Given the description of an element on the screen output the (x, y) to click on. 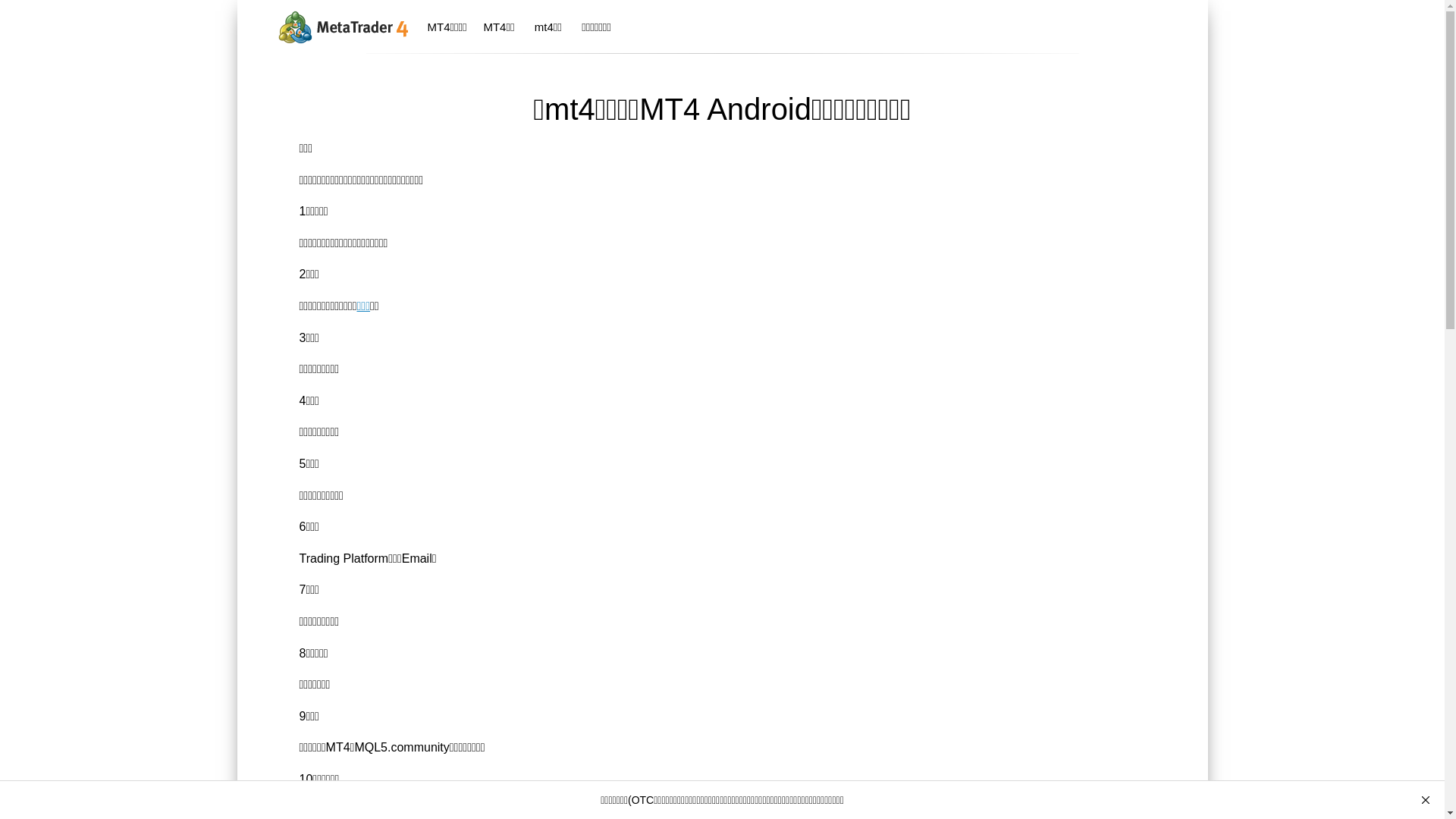
MetaTrader 4 Element type: hover (340, 25)
